Given the description of an element on the screen output the (x, y) to click on. 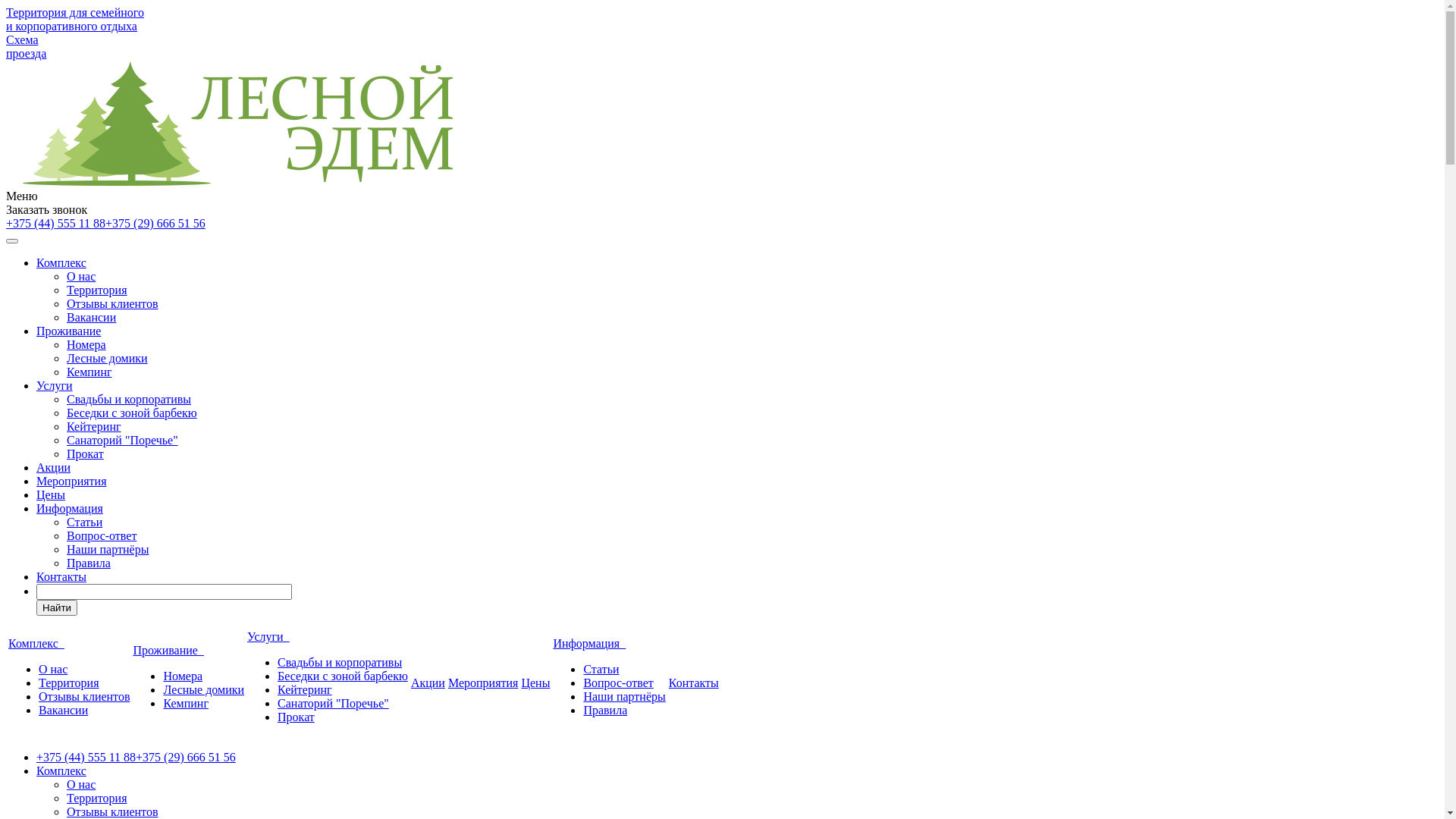
+375 (44) 555 11 88 Element type: text (85, 756)
+375 (44) 555 11 88 Element type: text (55, 222)
+375 (29) 666 51 56 Element type: text (185, 756)
+375 (29) 666 51 56 Element type: text (155, 222)
